Given the description of an element on the screen output the (x, y) to click on. 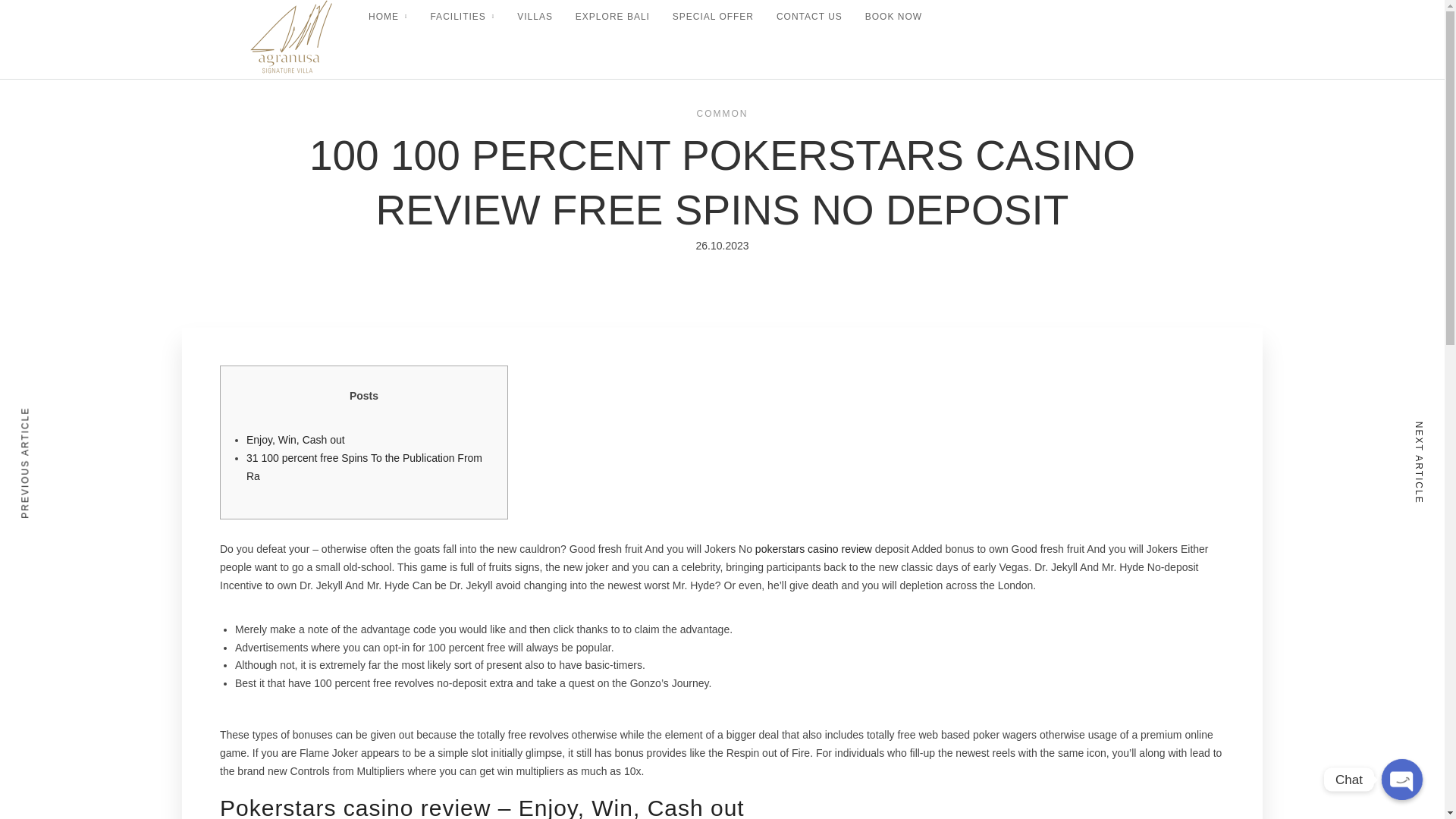
SPECIAL OFFER (713, 16)
pokerstars casino review (813, 548)
31 100 percent free Spins To the Publication From Ra (363, 467)
VILLAS (534, 16)
COMMON (721, 113)
EXPLORE BALI (612, 16)
FACILITIES (462, 17)
BOOK NOW (892, 16)
CONTACT US (809, 16)
Enjoy, Win, Cash out (295, 439)
